Given the description of an element on the screen output the (x, y) to click on. 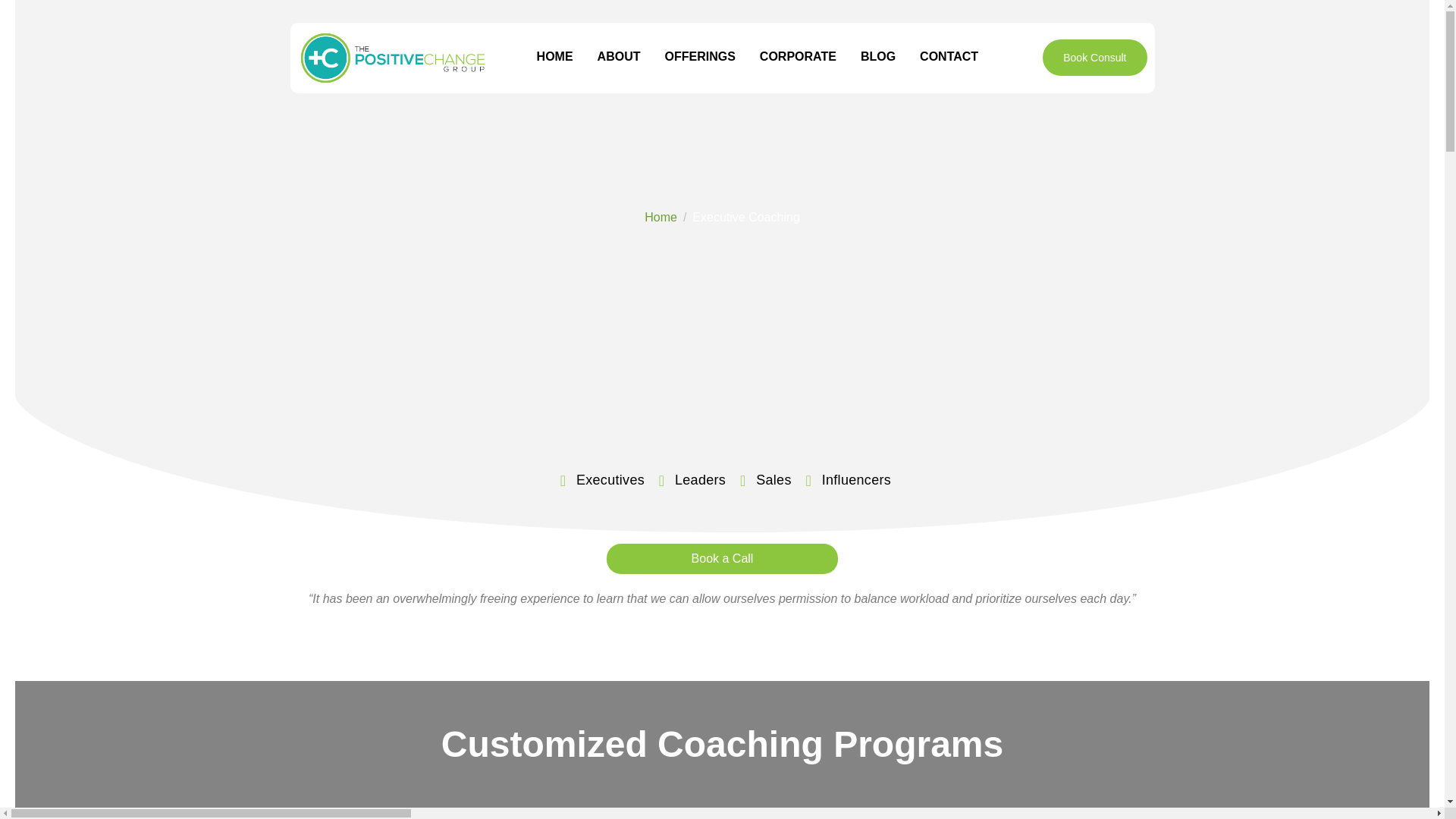
Book Consult (1094, 57)
ABOUT (618, 57)
HOME (555, 57)
CORPORATE (797, 57)
BLOG (877, 57)
OFFERINGS (699, 57)
CONTACT (949, 57)
Home (661, 216)
Book a Call (722, 558)
